Given the description of an element on the screen output the (x, y) to click on. 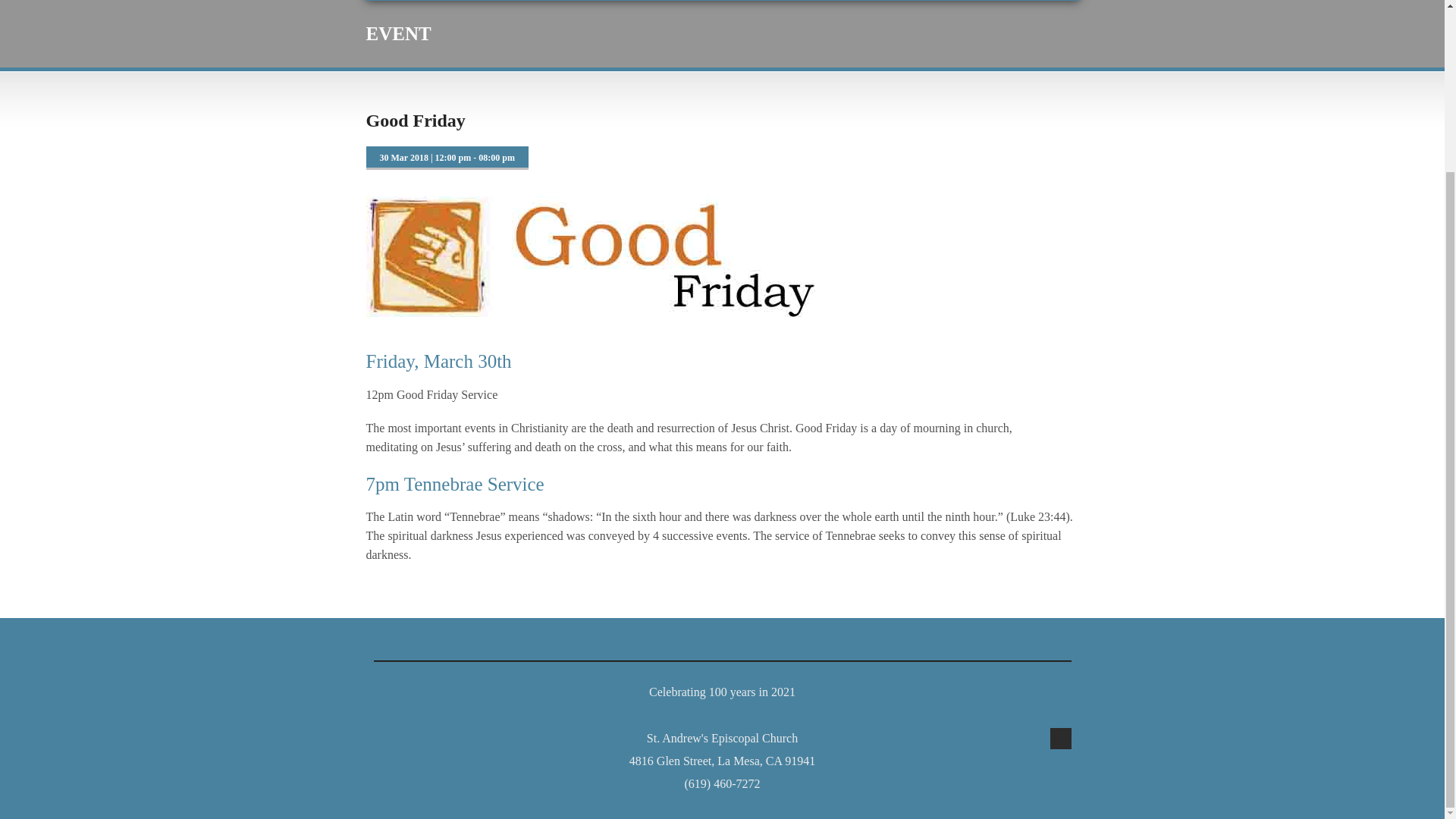
Good Friday (414, 120)
